Given the description of an element on the screen output the (x, y) to click on. 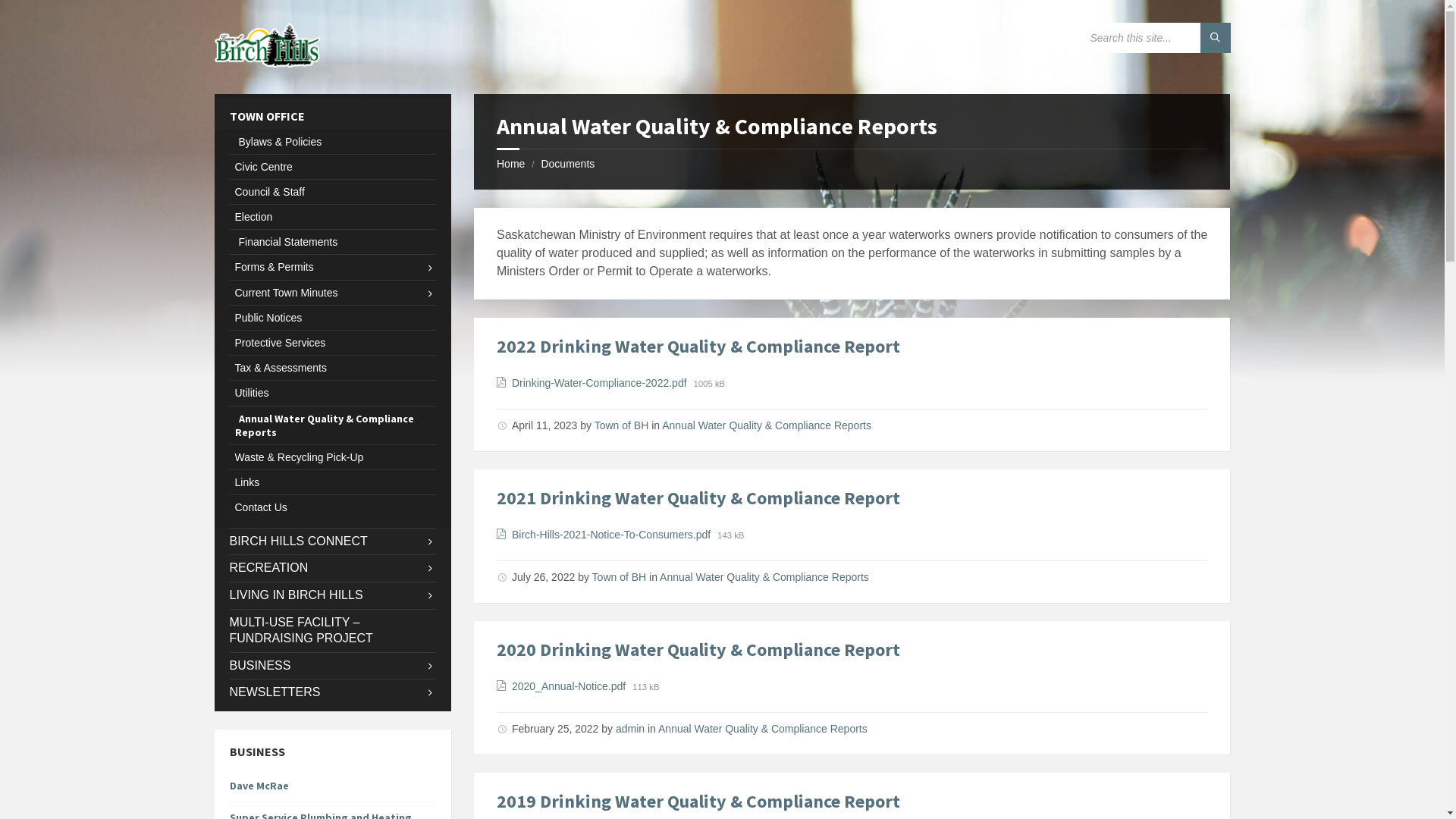
BIRCH HILLS CONNECT Element type: text (332, 541)
Protective Services Element type: text (332, 342)
Council & Staff Element type: text (332, 191)
Bylaws & Policies Element type: text (332, 141)
Forms & Permits Element type: text (332, 266)
2020_Annual-Notice.pdf Element type: text (571, 686)
2021 Drinking Water Quality & Compliance Report Element type: text (698, 497)
Financial Statements Element type: text (332, 241)
Public Notices Element type: text (332, 317)
Home Element type: text (510, 163)
Current Town Minutes Element type: text (332, 292)
Utilities Element type: text (332, 392)
RECREATION Element type: text (332, 568)
Town of BH Element type: text (621, 425)
Documents Element type: text (567, 163)
2020 Drinking Water Quality & Compliance Report Element type: text (698, 649)
Dave McRae Element type: text (332, 785)
TOWN OFFICE Element type: text (332, 116)
Tax & Assessments Element type: text (332, 367)
BUSINESS Element type: text (332, 665)
Drinking-Water-Compliance-2022.pdf Element type: text (602, 382)
Submit search Element type: hover (1214, 37)
Annual Water Quality & Compliance Reports Element type: text (764, 577)
Waste & Recycling Pick-Up Element type: text (332, 457)
Annual Water Quality & Compliance Reports Element type: text (762, 728)
LIVING IN BIRCH HILLS Element type: text (332, 595)
Town of BH Element type: text (619, 577)
admin Element type: text (629, 728)
Contact Us Element type: text (332, 507)
Links Element type: text (332, 482)
Civic Centre Element type: text (332, 166)
NEWSLETTERS Element type: text (332, 692)
Annual Water Quality & Compliance Reports Element type: text (766, 425)
Election Element type: text (332, 216)
Annual Water Quality & Compliance Reports Element type: text (332, 425)
Birch-Hills-2021-Notice-To-Consumers.pdf Element type: text (614, 534)
2019 Drinking Water Quality & Compliance Report Element type: text (698, 800)
2022 Drinking Water Quality & Compliance Report Element type: text (698, 345)
